Given the description of an element on the screen output the (x, y) to click on. 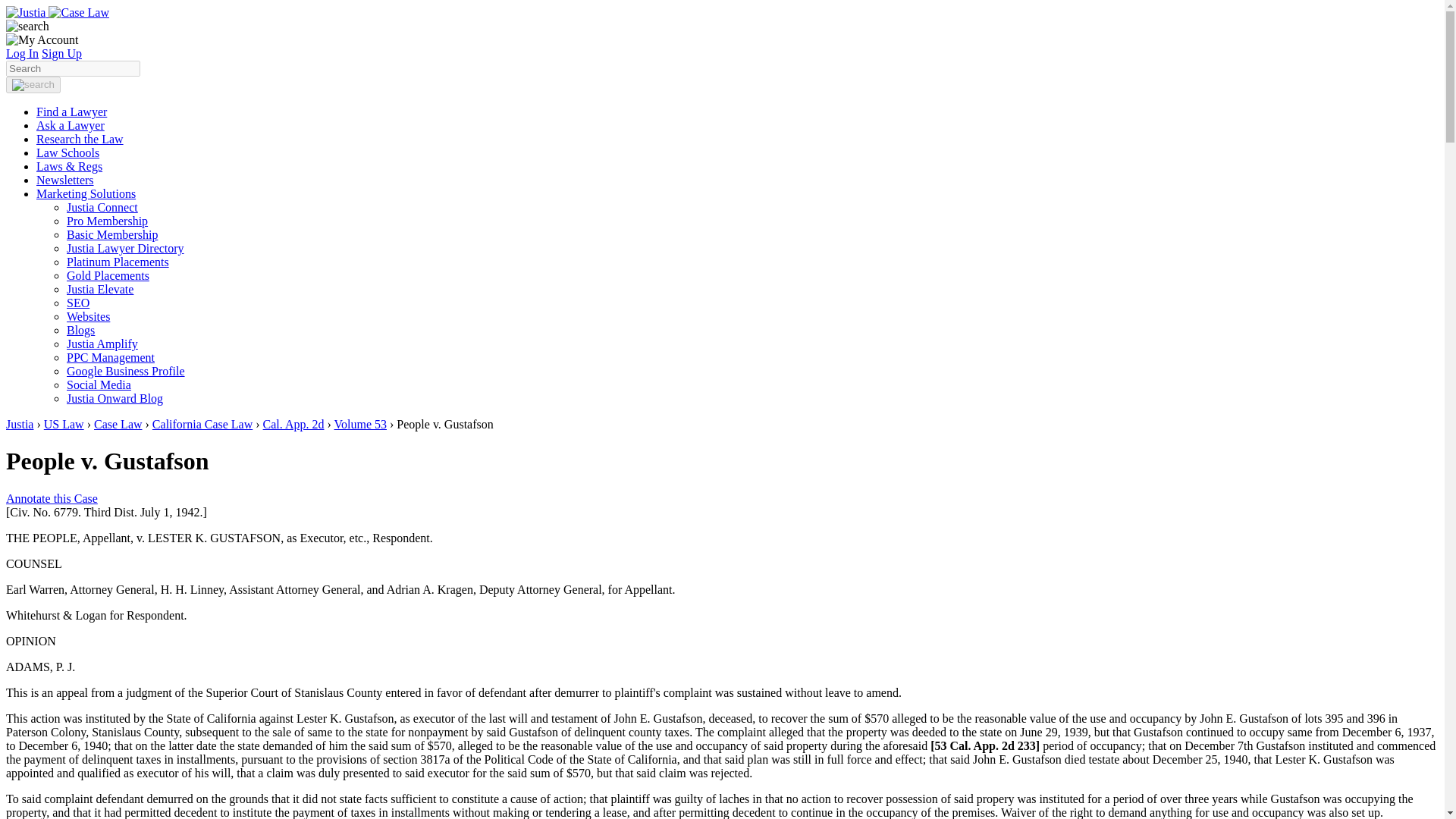
Sign Up (61, 52)
Cal. App. 2d (293, 423)
Justia (19, 423)
Blogs (80, 329)
PPC Management (110, 357)
Find a Lawyer (71, 111)
Google Business Profile (125, 370)
Justia Connect (102, 206)
Law Schools (67, 152)
Search (72, 68)
Case Law (118, 423)
SEO (77, 302)
Justia Onward Blog (114, 398)
Justia Lawyer Directory (125, 247)
Platinum Placements (117, 261)
